Given the description of an element on the screen output the (x, y) to click on. 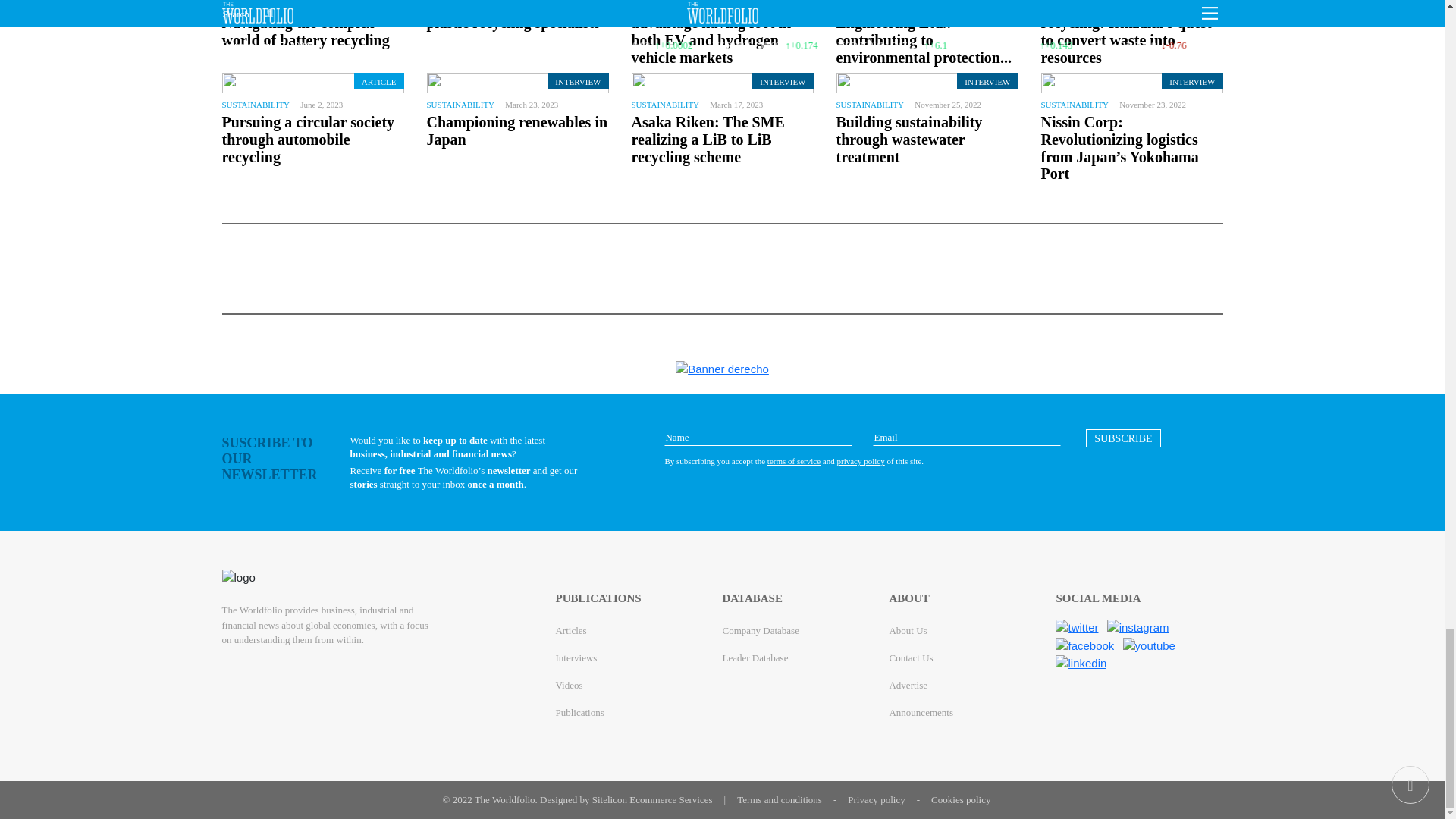
SUBSCRIBE (1123, 438)
